Given the description of an element on the screen output the (x, y) to click on. 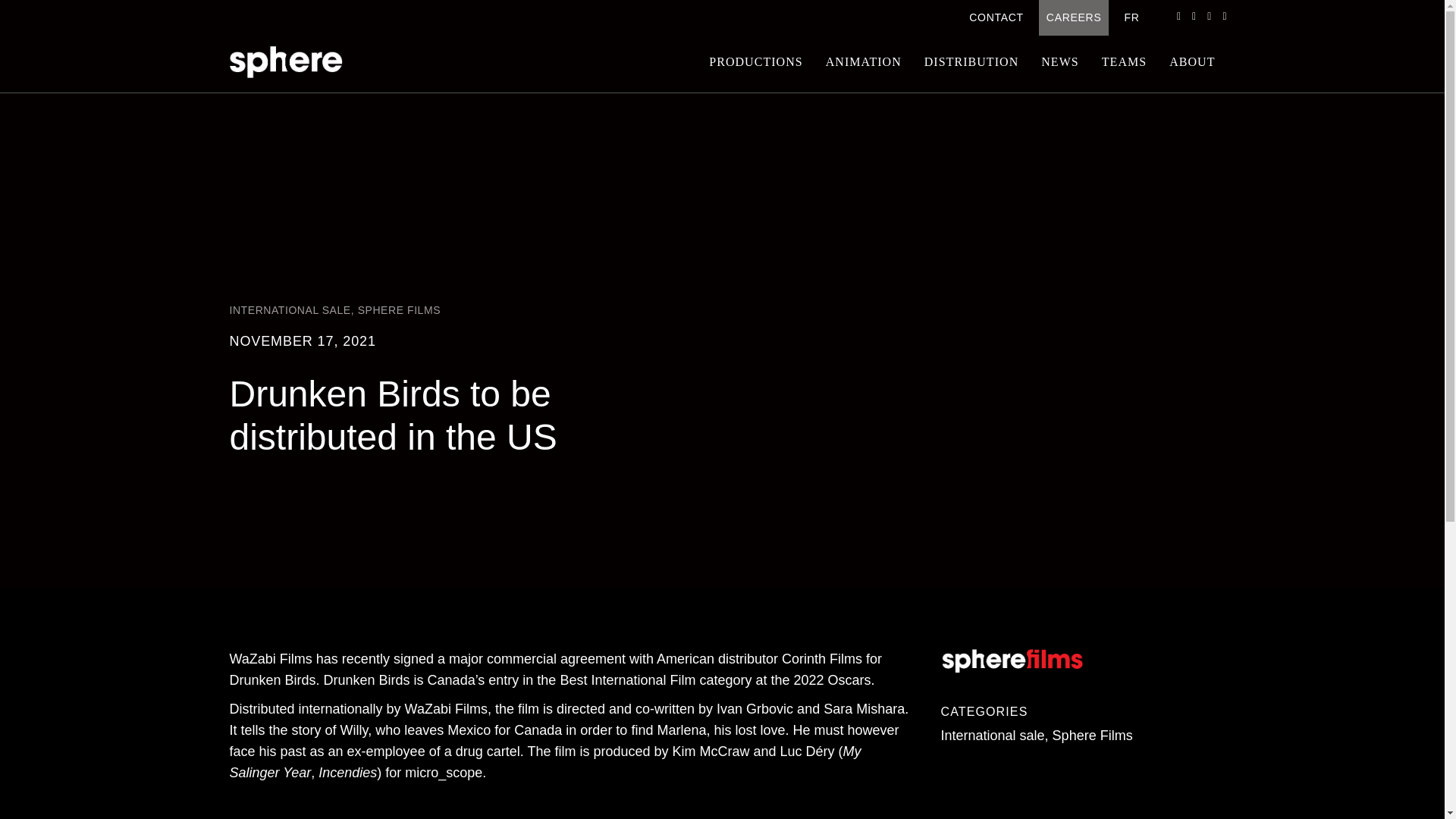
CAREERS (1074, 18)
NEWS (1059, 61)
SphereFilms (1011, 661)
DISTRIBUTION (970, 61)
ANIMATION (862, 61)
PRODUCTIONS (755, 61)
TEAMS (1123, 61)
CONTACT (995, 18)
Sphere logo (285, 61)
ABOUT (1191, 61)
